Given the description of an element on the screen output the (x, y) to click on. 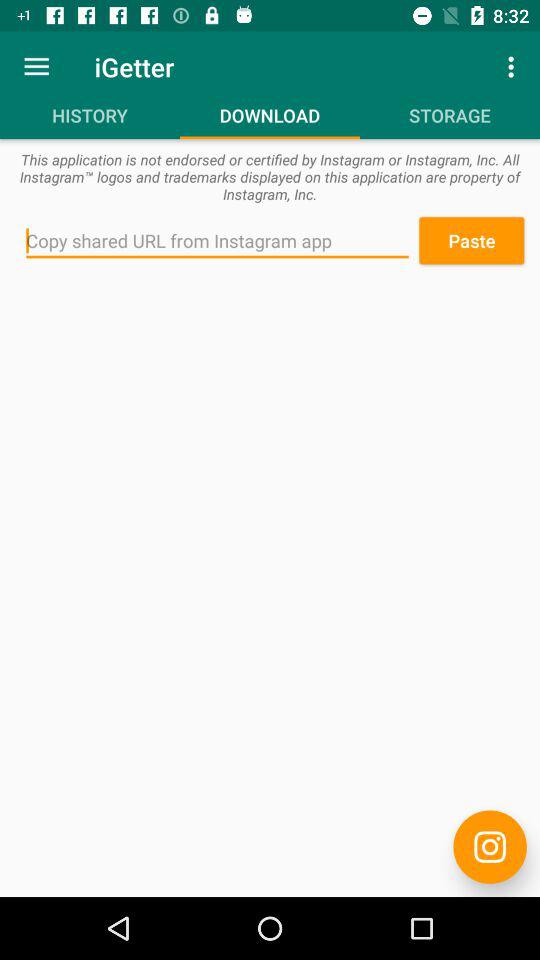
insert url field (217, 241)
